Given the description of an element on the screen output the (x, y) to click on. 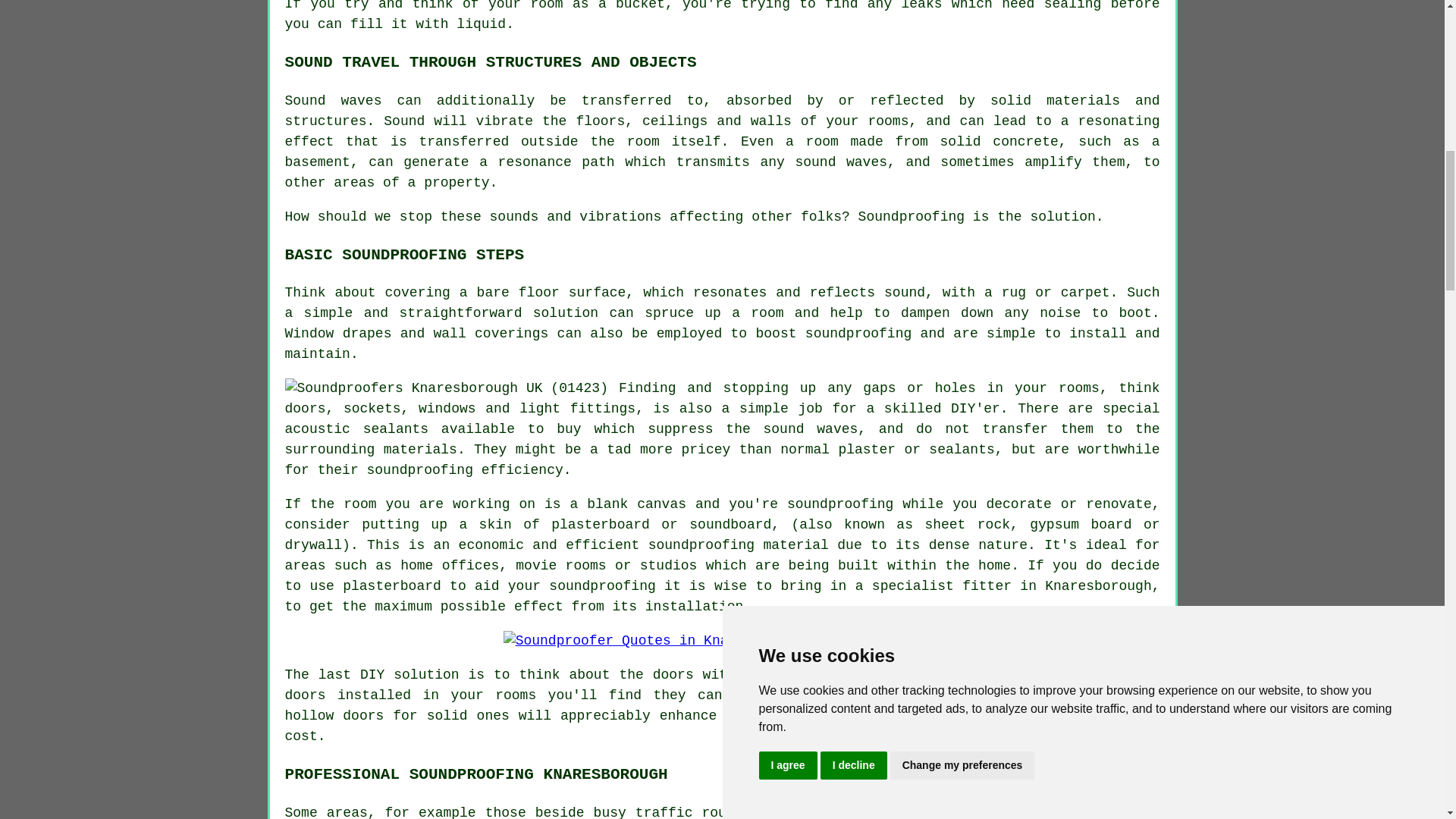
Soundproofer Quotes in Knaresborough North Yorkshire (722, 640)
